Given the description of an element on the screen output the (x, y) to click on. 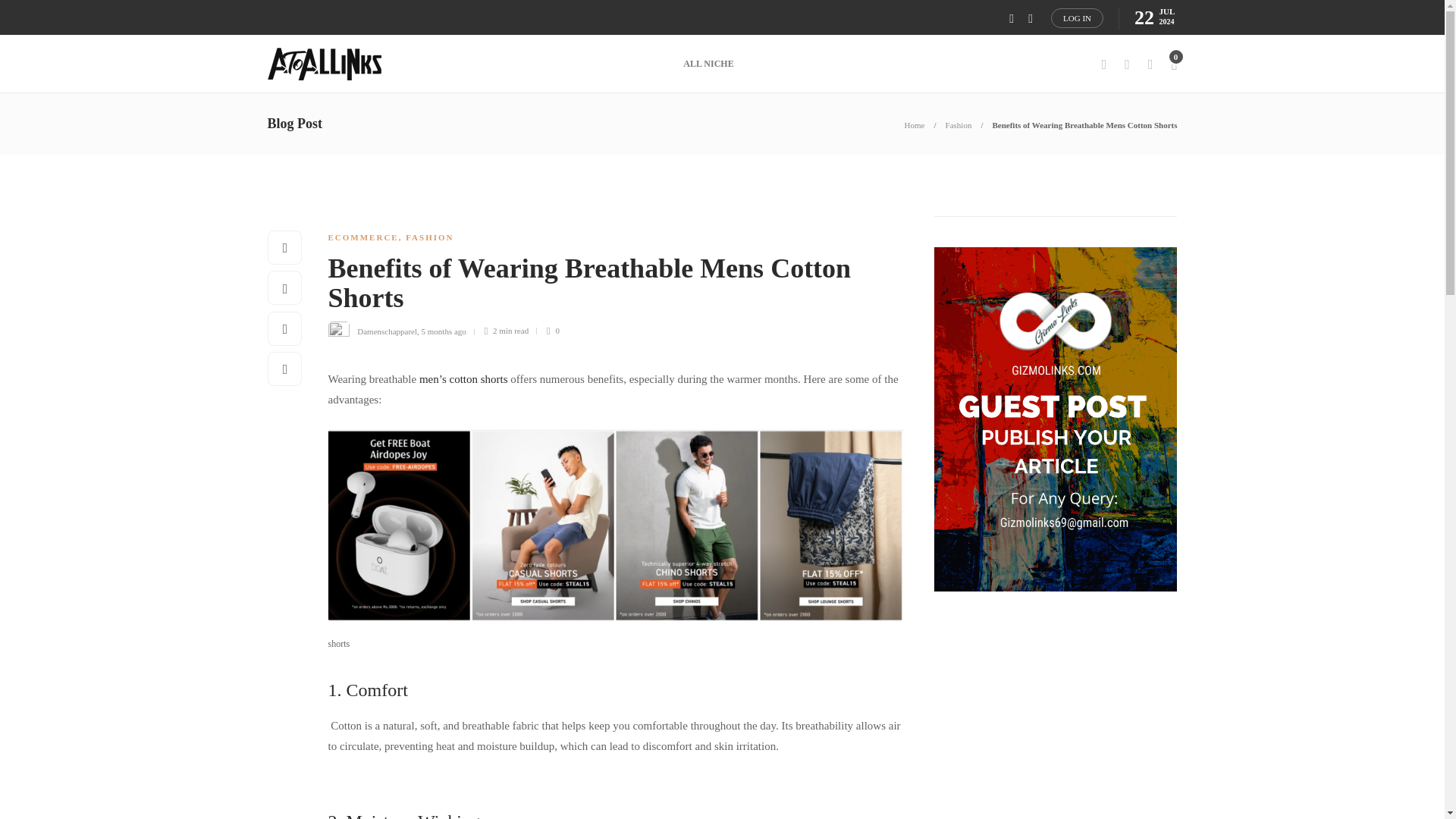
FASHION (429, 236)
Damenschapparel (386, 329)
Home (914, 124)
LOG IN (1077, 17)
Fashion (958, 124)
Benefits of Wearing Breathable Mens Cotton Shorts (1083, 124)
Benefits of Wearing Breathable Mens Cotton Shorts  (603, 287)
Home (914, 124)
ECOMMERCE (362, 236)
